Given the description of an element on the screen output the (x, y) to click on. 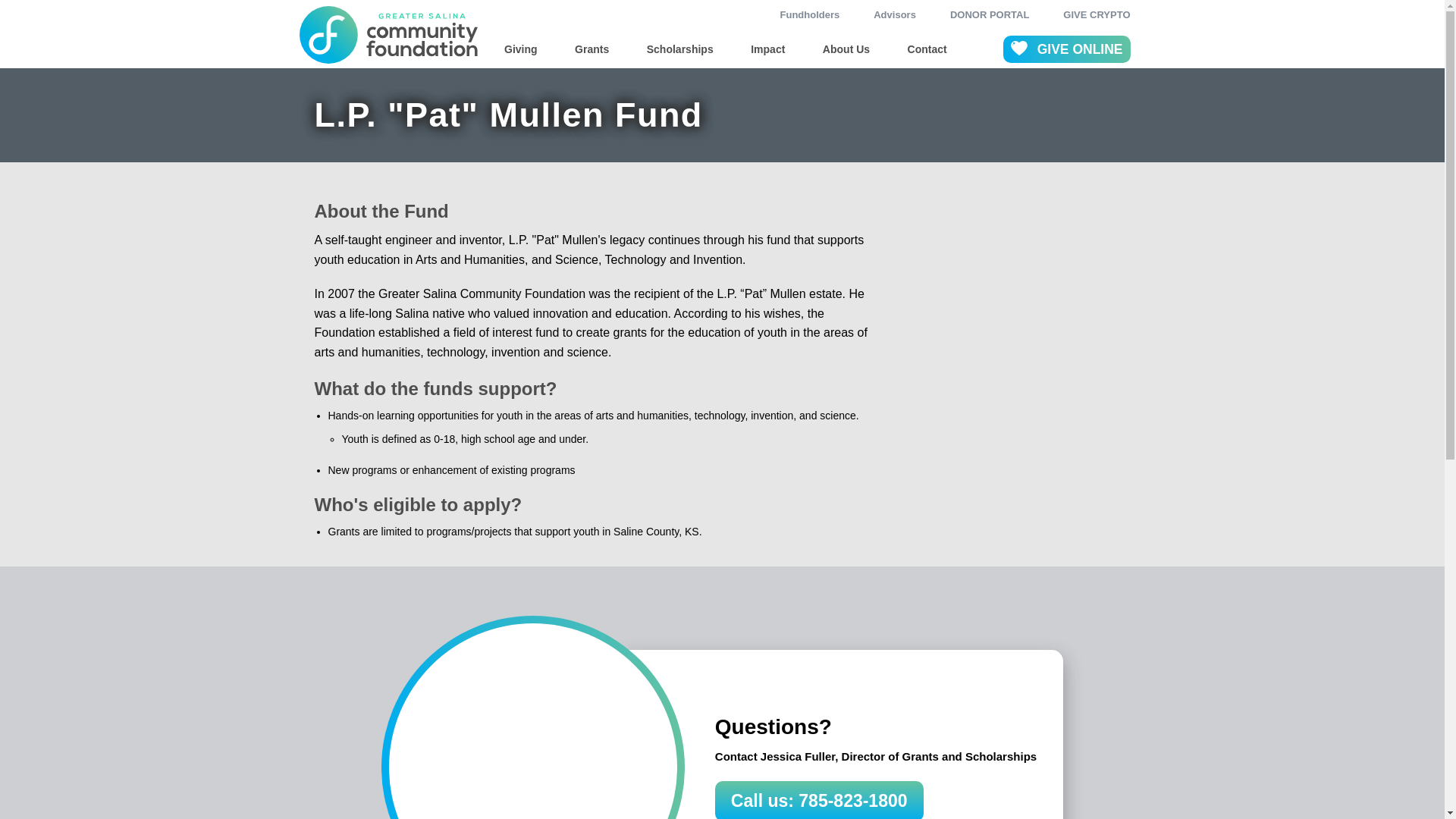
Advisors (894, 14)
DONOR PORTAL (989, 14)
Give Online (1066, 49)
Giving (520, 48)
Impact (767, 48)
Grants (591, 48)
Fundholders (810, 14)
GIVE CRYPTO (1095, 14)
Contact (926, 48)
About Us (845, 48)
